Given the description of an element on the screen output the (x, y) to click on. 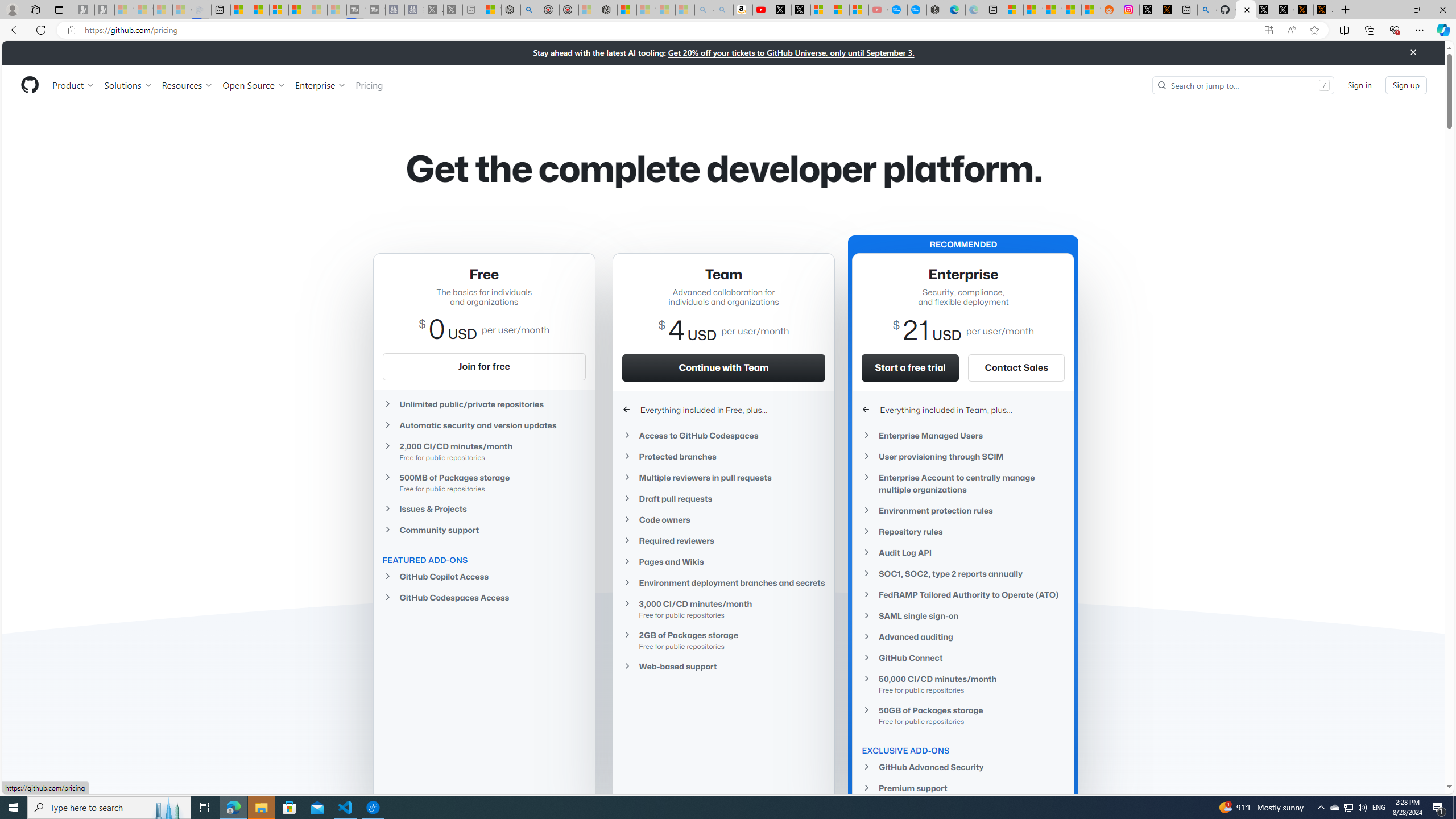
GitHub Codespaces Access (483, 597)
Address and search bar (669, 29)
GitHub (@github) / X (1283, 9)
3,000 CI/CD minutes/month Free for public repositories (723, 608)
Solutions (128, 84)
